Given the description of an element on the screen output the (x, y) to click on. 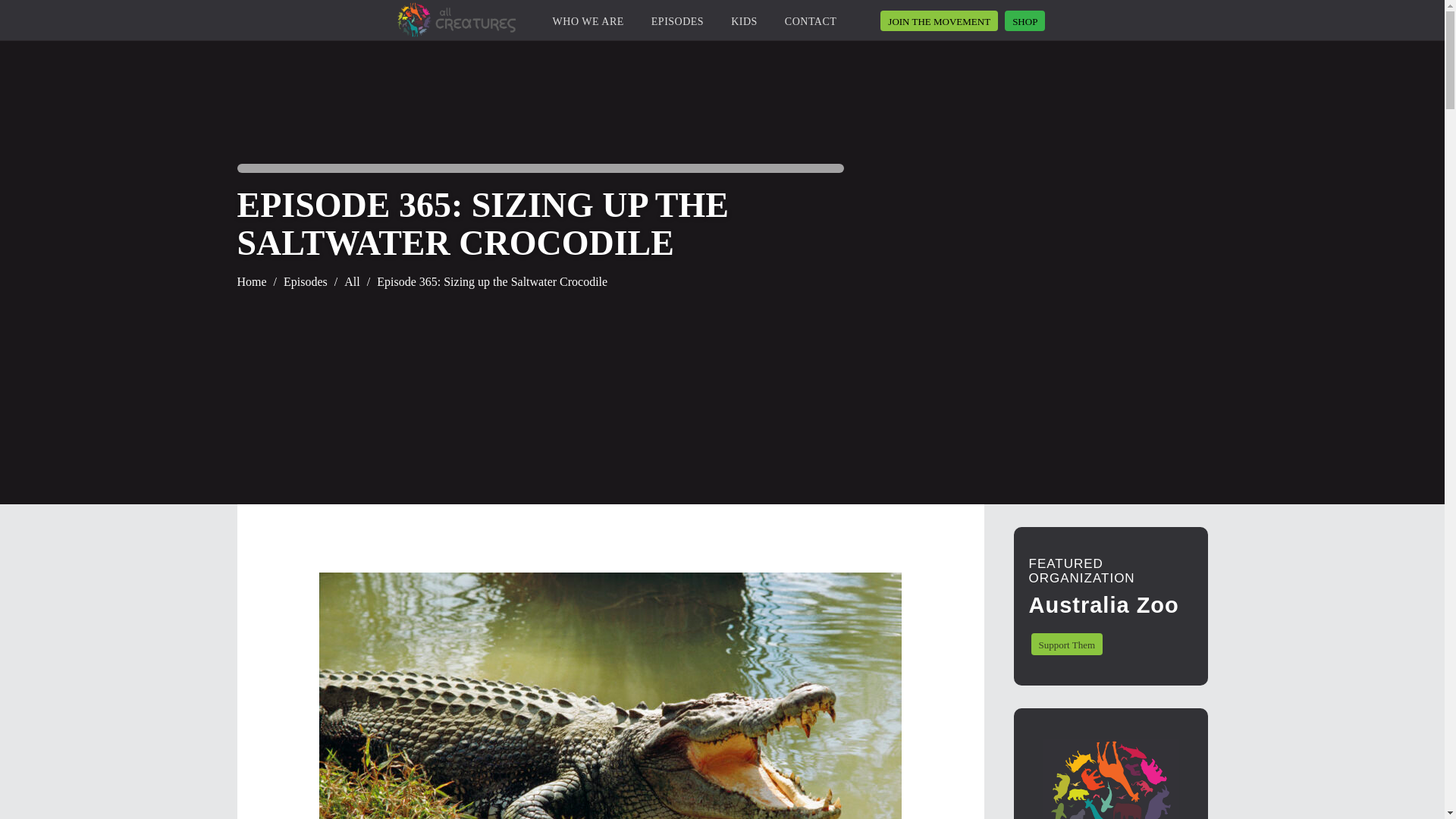
patreon (938, 20)
CONTACT (810, 23)
Support Them (1066, 644)
All (351, 282)
All Creatures Podcast (459, 19)
JOIN THE MOVEMENT (938, 20)
Home (250, 282)
KIDS (743, 23)
SHOP (1024, 20)
Go to the All Episode Categories archives. (351, 282)
shop (1024, 20)
Go to Episodes. (305, 282)
Episodes (305, 282)
EPISODES (676, 23)
WHO WE ARE (588, 23)
